Given the description of an element on the screen output the (x, y) to click on. 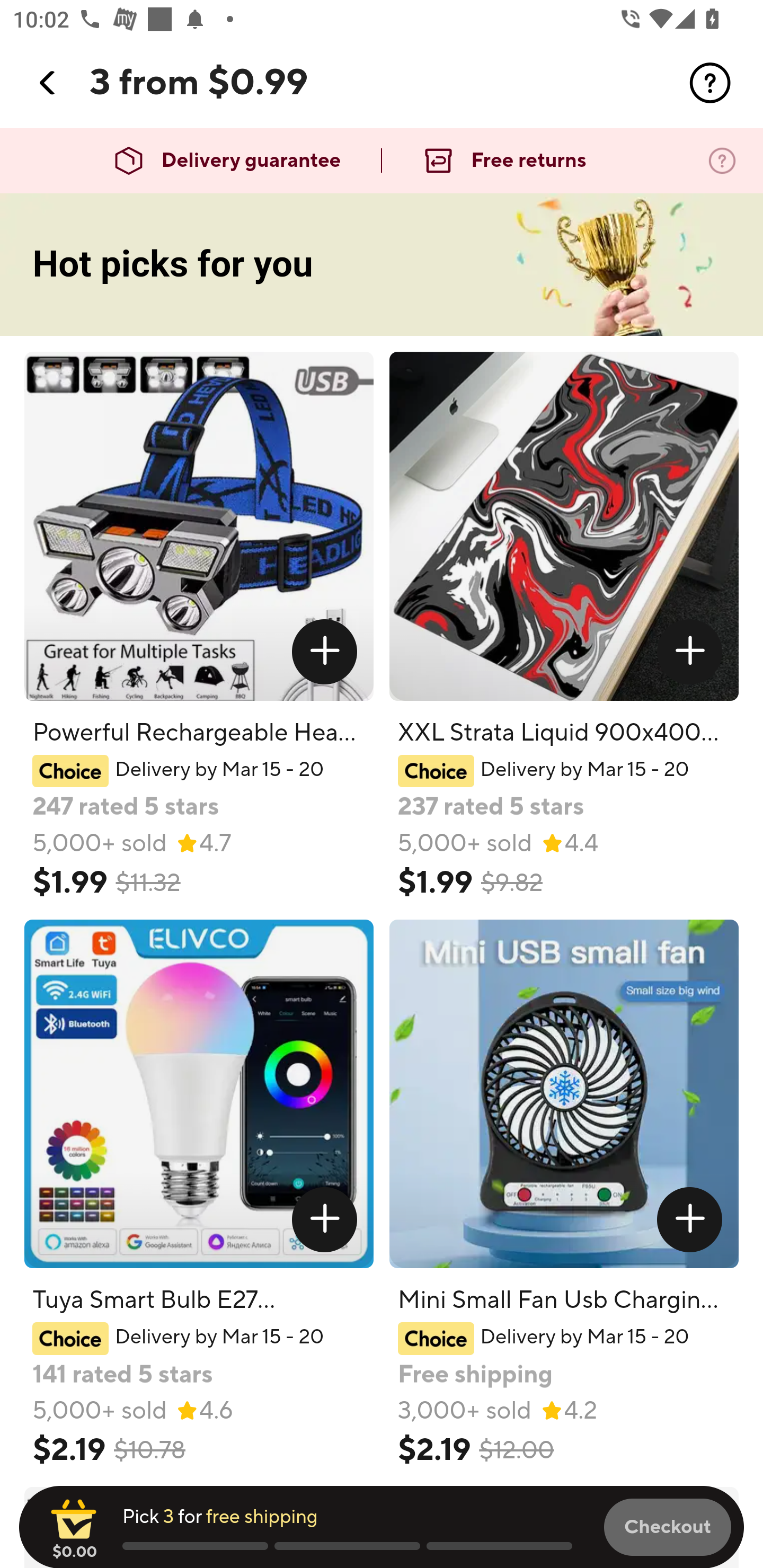
 (710, 82)
 (48, 82)
Hot picks for you (381, 264)
 (323, 651)
 (689, 651)
 (323, 1218)
 (689, 1218)
